Given the description of an element on the screen output the (x, y) to click on. 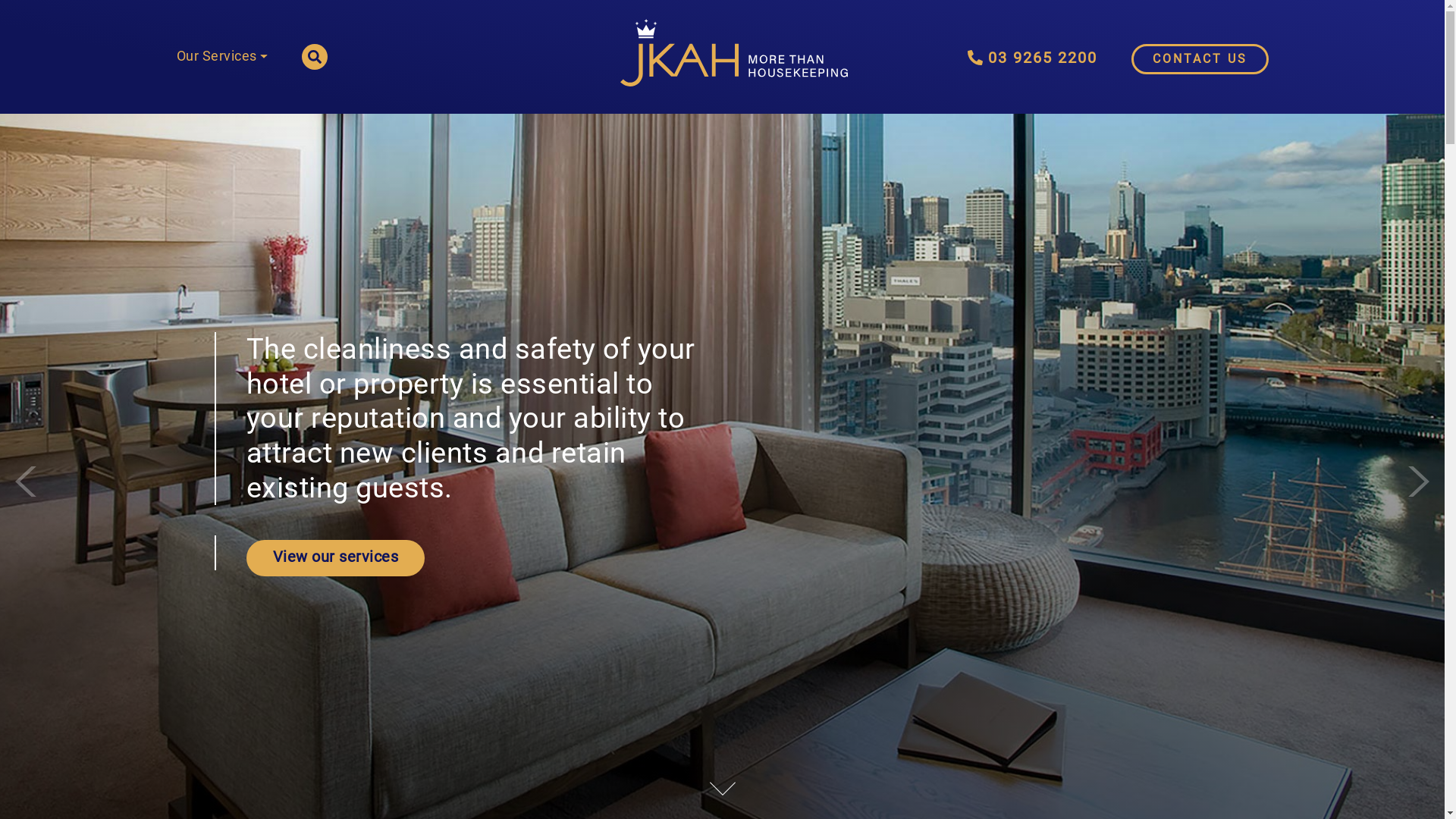
Our Services Element type: text (221, 57)
Next Element type: text (1417, 481)
View our services Element type: text (334, 557)
Previous Element type: text (26, 481)
CONTACT US Element type: text (1199, 58)
03 9265 2200 Element type: text (1032, 57)
